Given the description of an element on the screen output the (x, y) to click on. 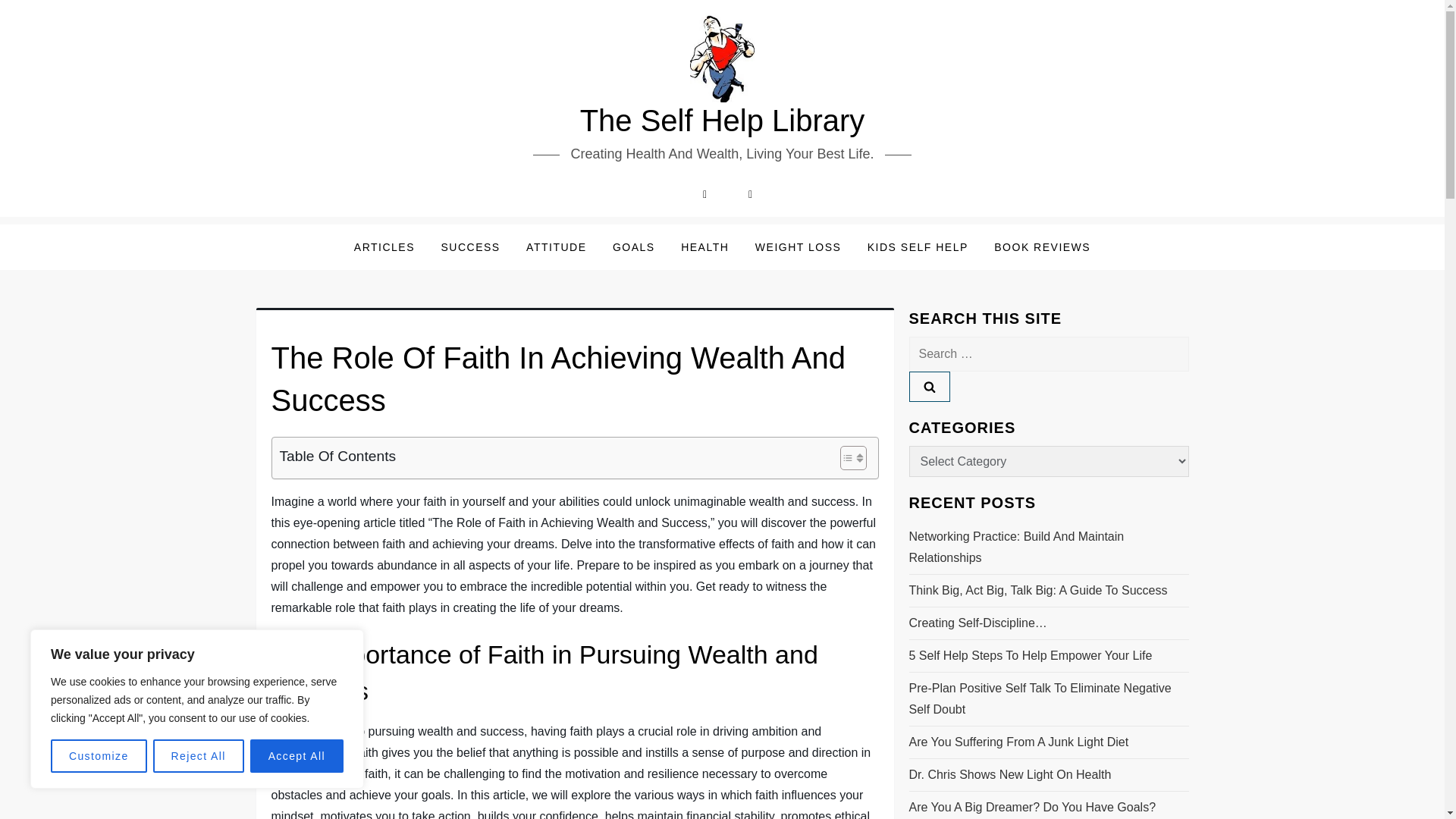
ARTICLES (384, 247)
Customize (98, 756)
ATTITUDE (555, 247)
WEIGHT LOSS (797, 247)
The Self Help Library (721, 120)
KIDS SELF HELP (917, 247)
GOALS (633, 247)
SUCCESS (470, 247)
Accept All (296, 756)
Reject All (198, 756)
